Given the description of an element on the screen output the (x, y) to click on. 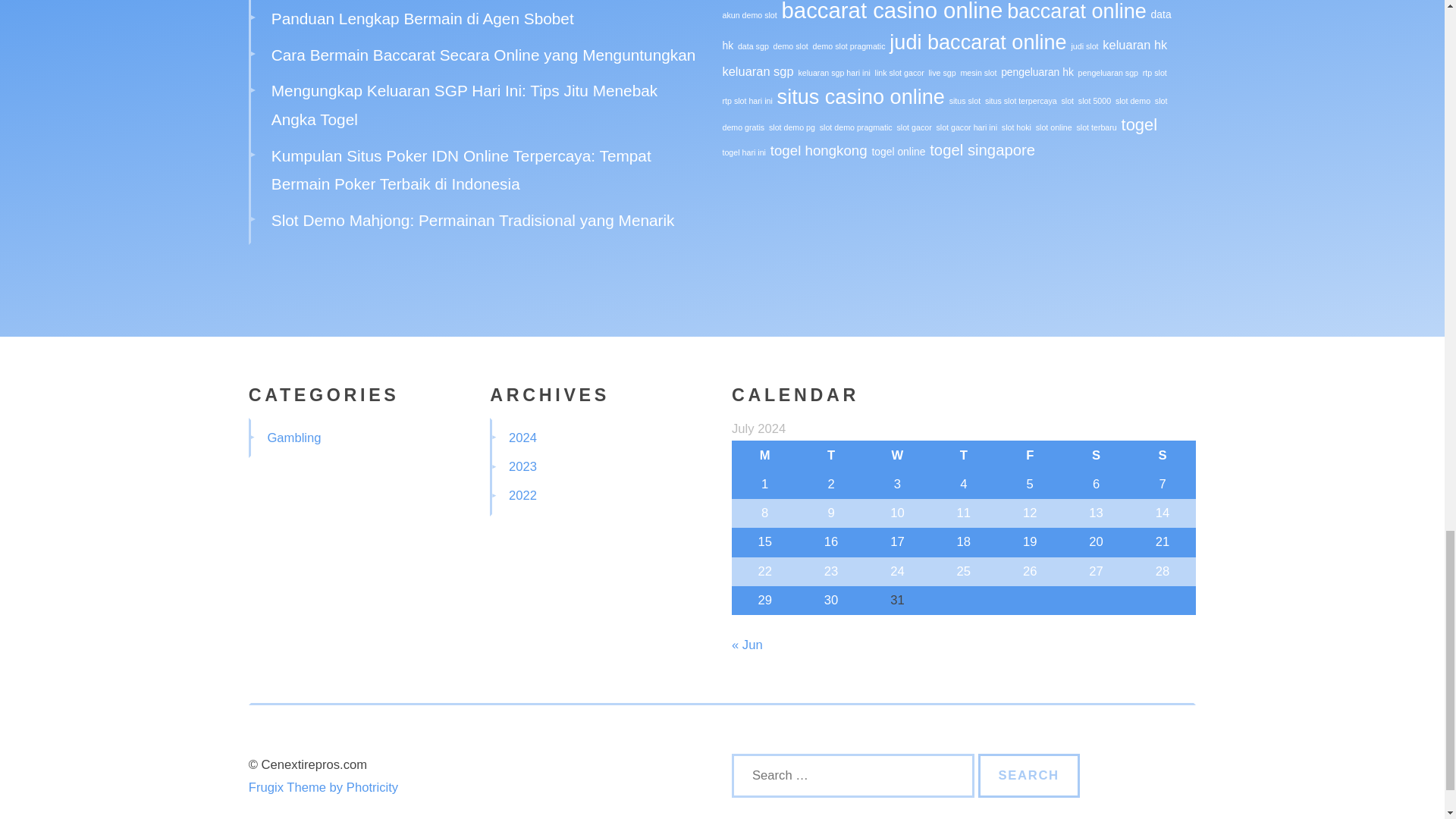
Wednesday (897, 454)
pengeluaran sgp (1108, 71)
situs slot (964, 100)
keluaran sgp hari ini (833, 71)
Slot Demo Mahjong: Permainan Tradisional yang Menarik (472, 220)
Search (1029, 775)
baccarat casino online (892, 11)
situs casino online (860, 96)
Thursday (962, 454)
situs slot terpercaya (1021, 100)
link slot gacor (899, 71)
judi baccarat online (977, 42)
data sgp (753, 45)
Cara Bermain Baccarat Secara Online yang Menguntungkan (482, 54)
Panduan Lengkap Bermain di Agen Sbobet (421, 18)
